Given the description of an element on the screen output the (x, y) to click on. 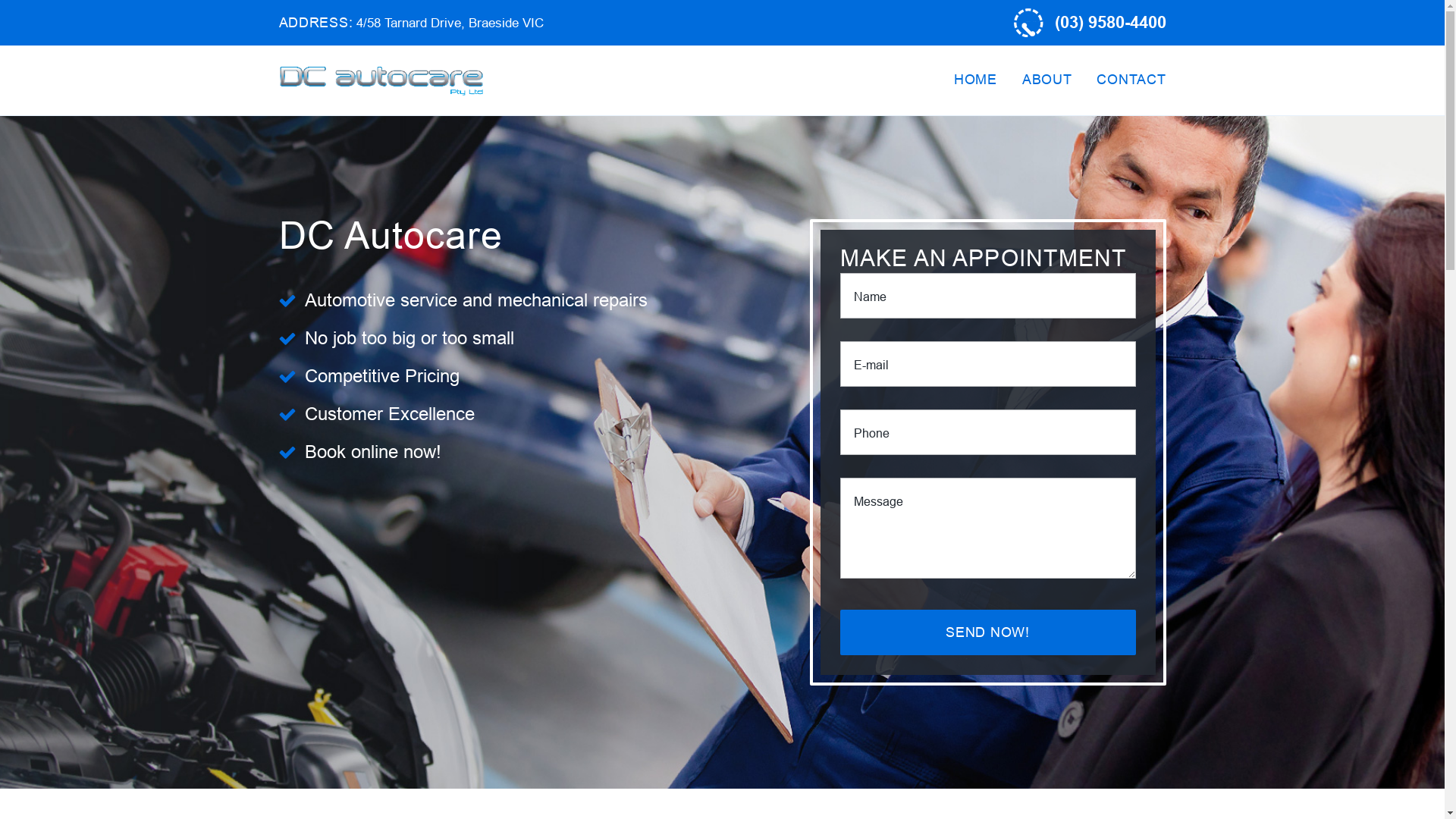
(03) 9580-4400 Element type: text (1109, 22)
SEND NOW! Element type: text (987, 631)
HOME Element type: text (975, 79)
CONTACT Element type: text (1130, 79)
ABOUT Element type: text (1047, 79)
